Given the description of an element on the screen output the (x, y) to click on. 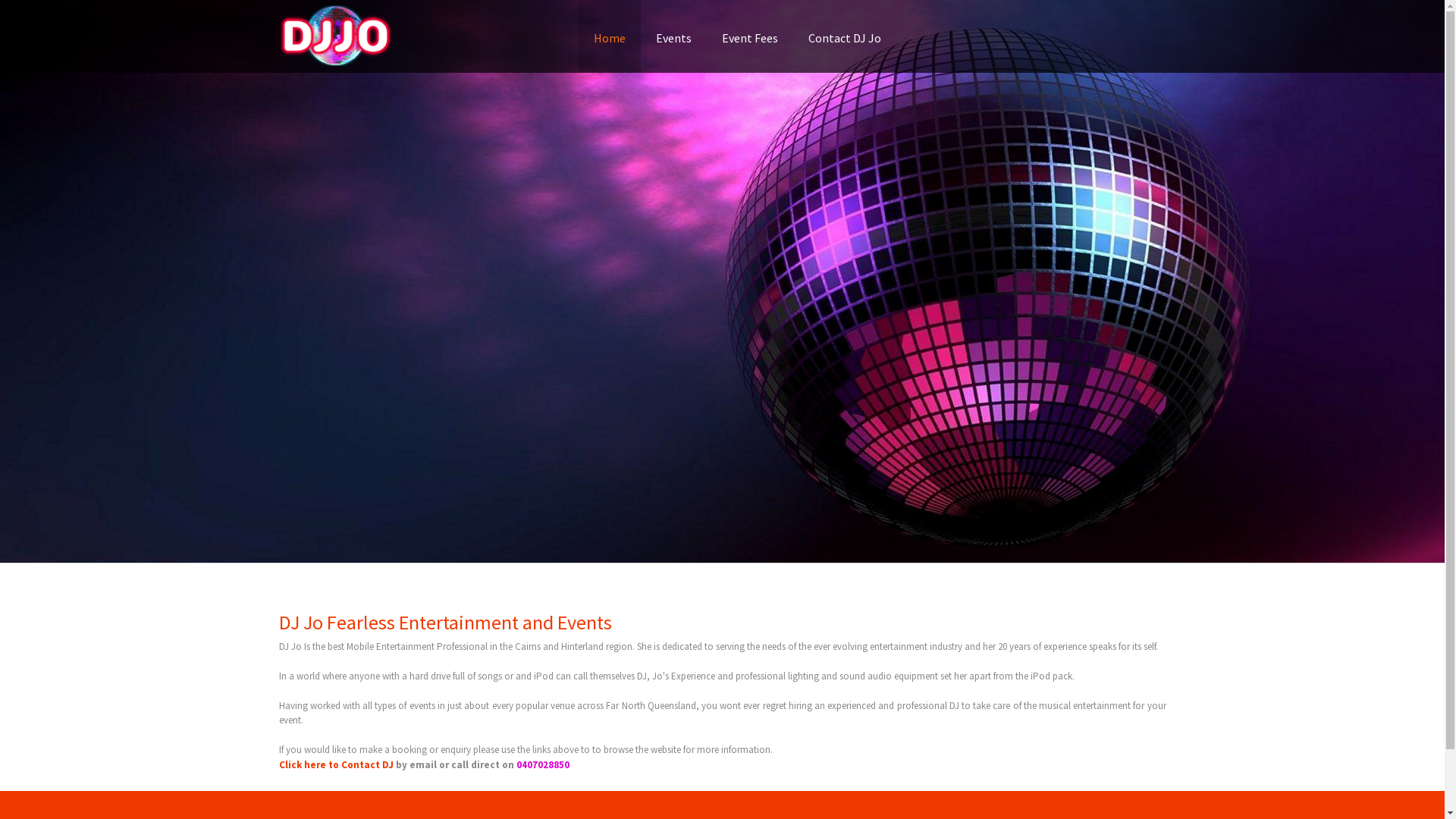
Contact DJ Jo Element type: text (844, 38)
Home Element type: text (608, 38)
Event Fees Element type: text (749, 38)
DJ Jo Fearless Entertainment and Events Element type: text (445, 621)
Click here to Contact DJ Element type: text (336, 764)
Events Element type: text (672, 38)
